Given the description of an element on the screen output the (x, y) to click on. 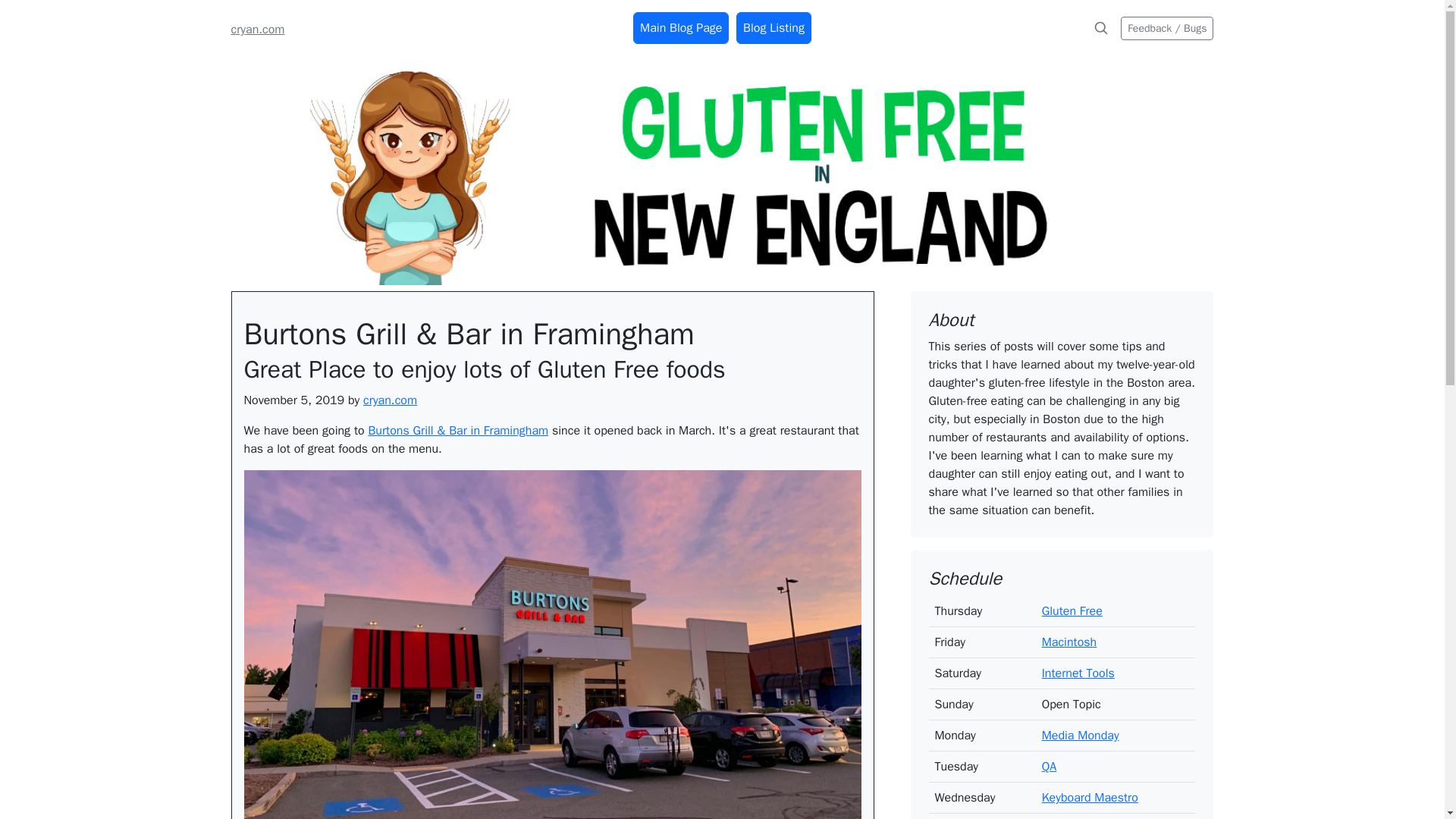
cryan.com (256, 29)
Blog Listing (773, 28)
Internet Tools (1078, 672)
Search (1101, 28)
Keyboard Maestro (1090, 797)
Macintosh (1069, 642)
QA (1049, 766)
Gluten Free (1072, 611)
Media Monday (1080, 735)
Main Blog Page (681, 28)
Search (1100, 28)
cryan.com (389, 400)
